Given the description of an element on the screen output the (x, y) to click on. 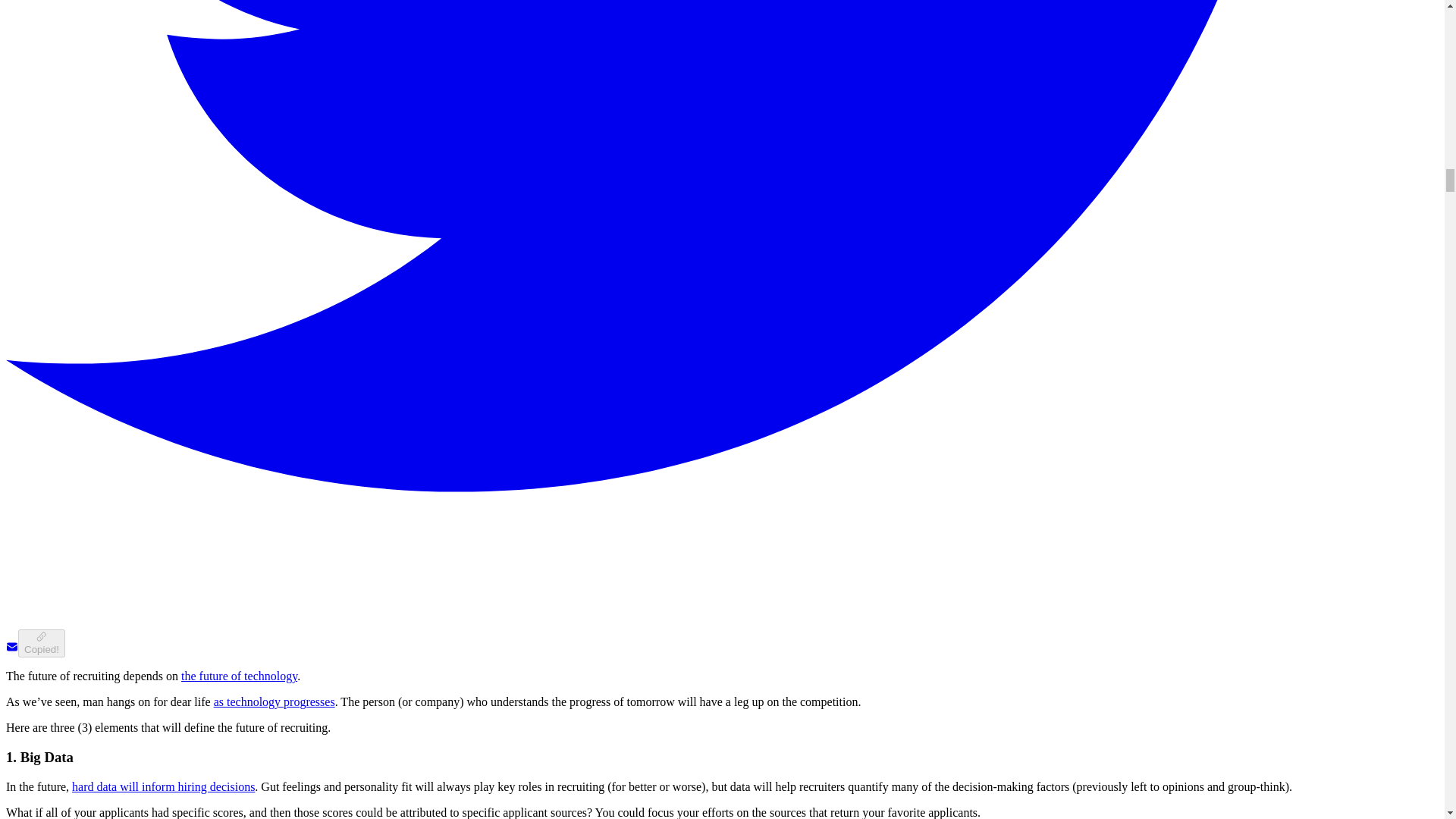
the future of technology (238, 675)
hard data will inform hiring decisions (162, 786)
as technology progresses (274, 701)
Copied! (41, 643)
